Given the description of an element on the screen output the (x, y) to click on. 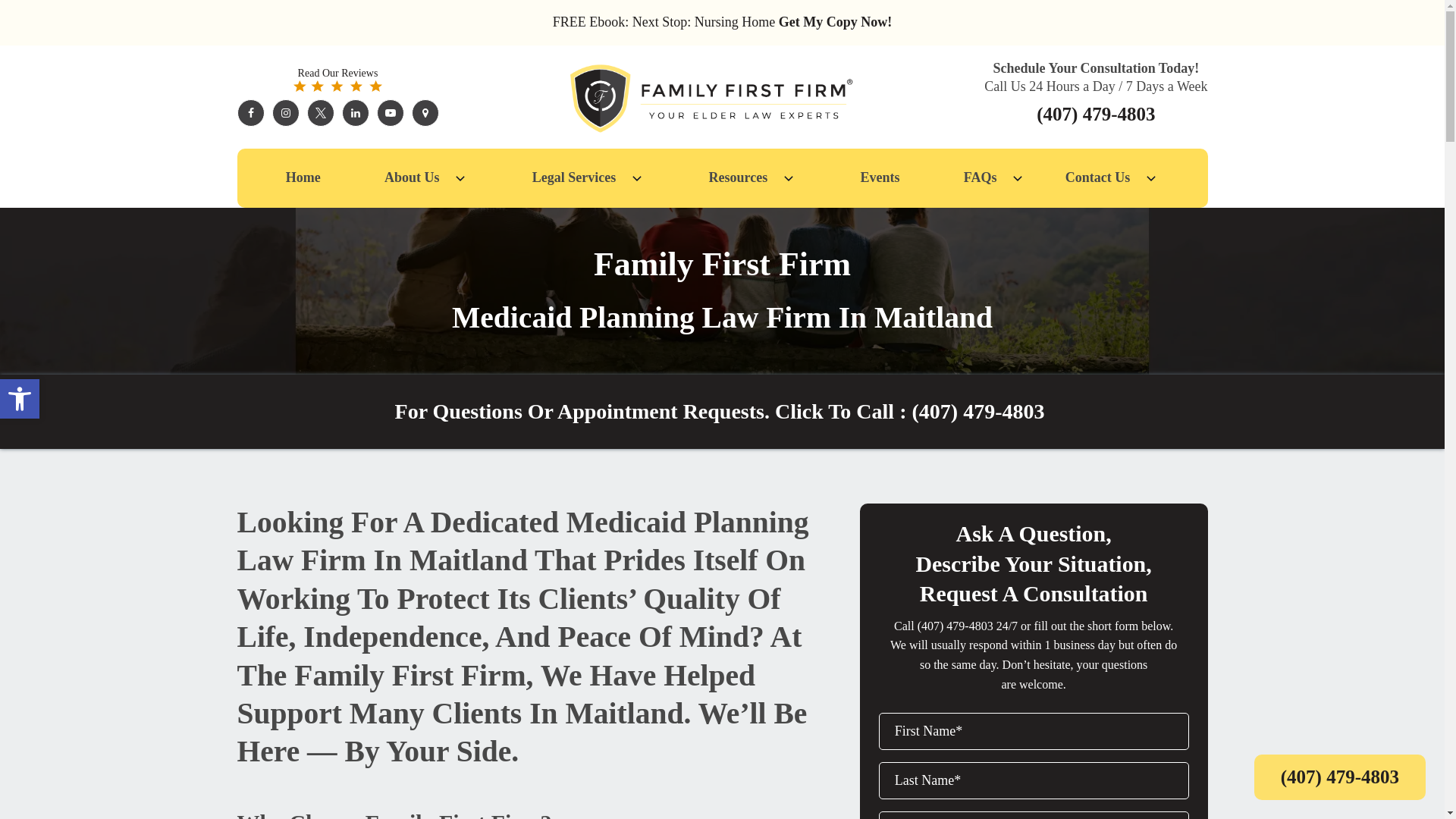
Accessibility Tools (19, 398)
Get My Copy Now! (834, 21)
Read Our Reviews (337, 79)
Accessibility Tools (19, 398)
